Given the description of an element on the screen output the (x, y) to click on. 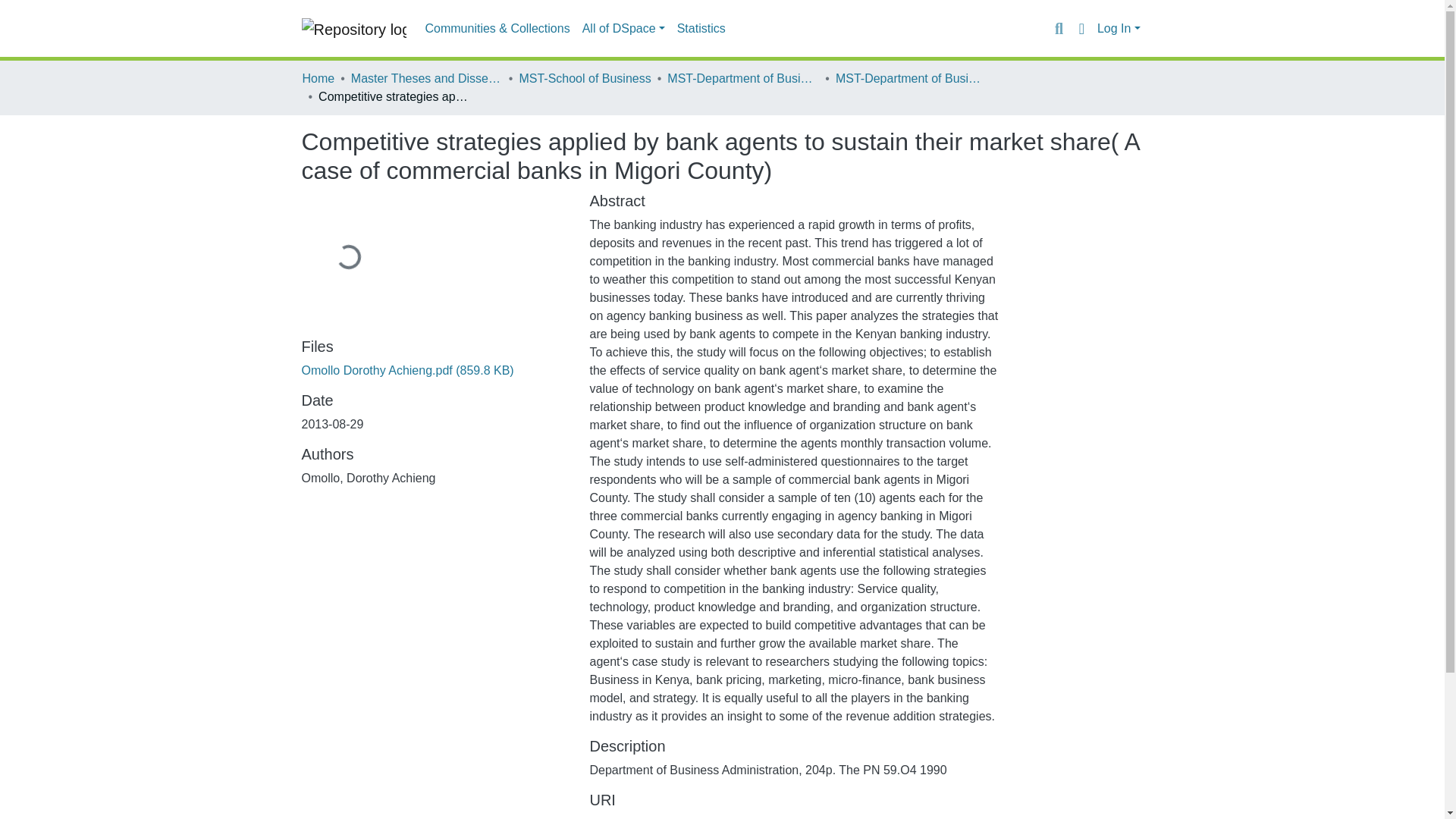
Statistics (701, 28)
Search (1058, 28)
MST-Department of Business Administration (911, 78)
MST-School of Business (584, 78)
Log In (1118, 28)
Statistics (701, 28)
MST-Department of Business Administration (742, 78)
Home (317, 78)
All of DSpace (623, 28)
Language switch (1081, 28)
